Given the description of an element on the screen output the (x, y) to click on. 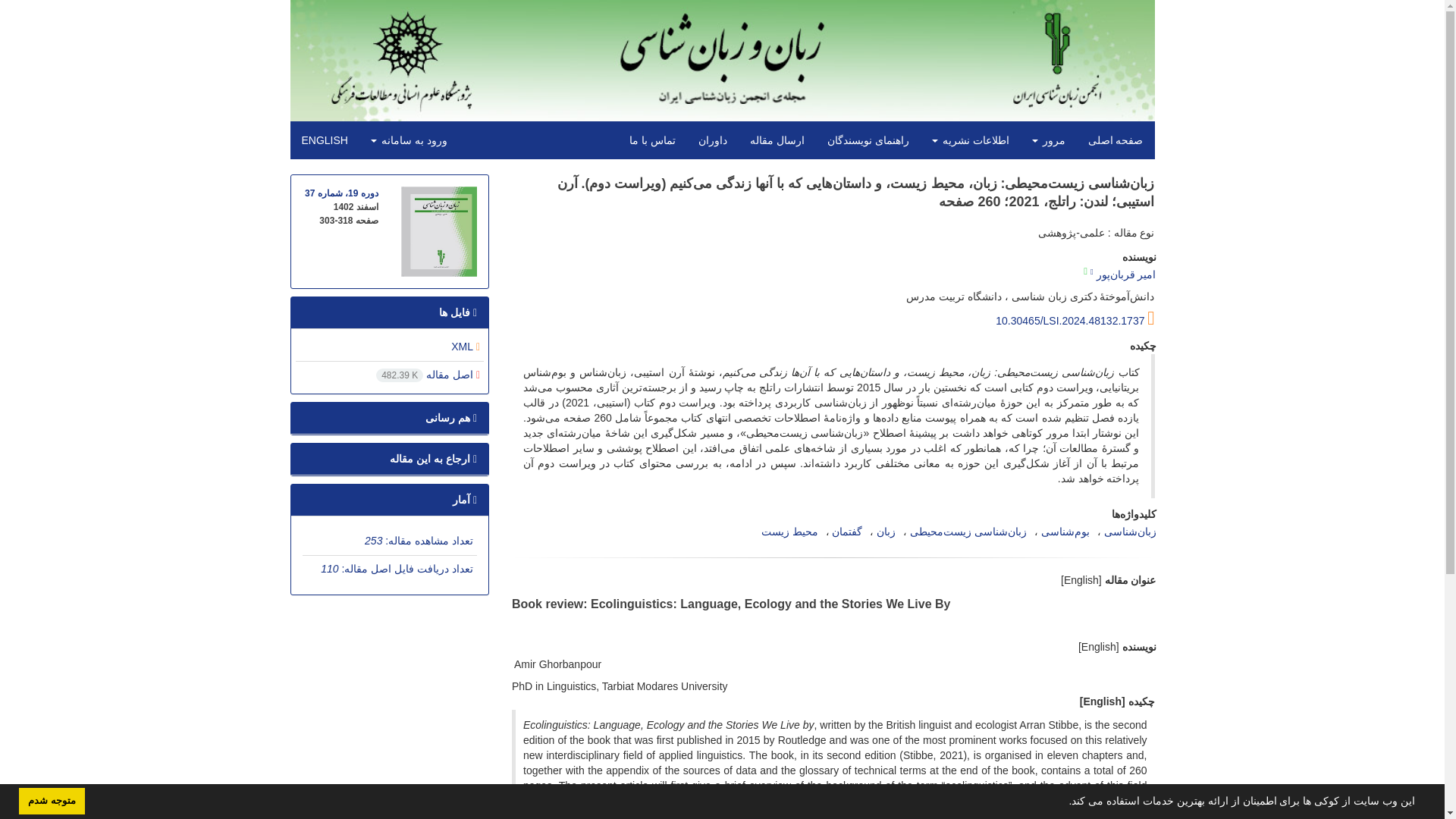
ENGLISH (323, 139)
